Given the description of an element on the screen output the (x, y) to click on. 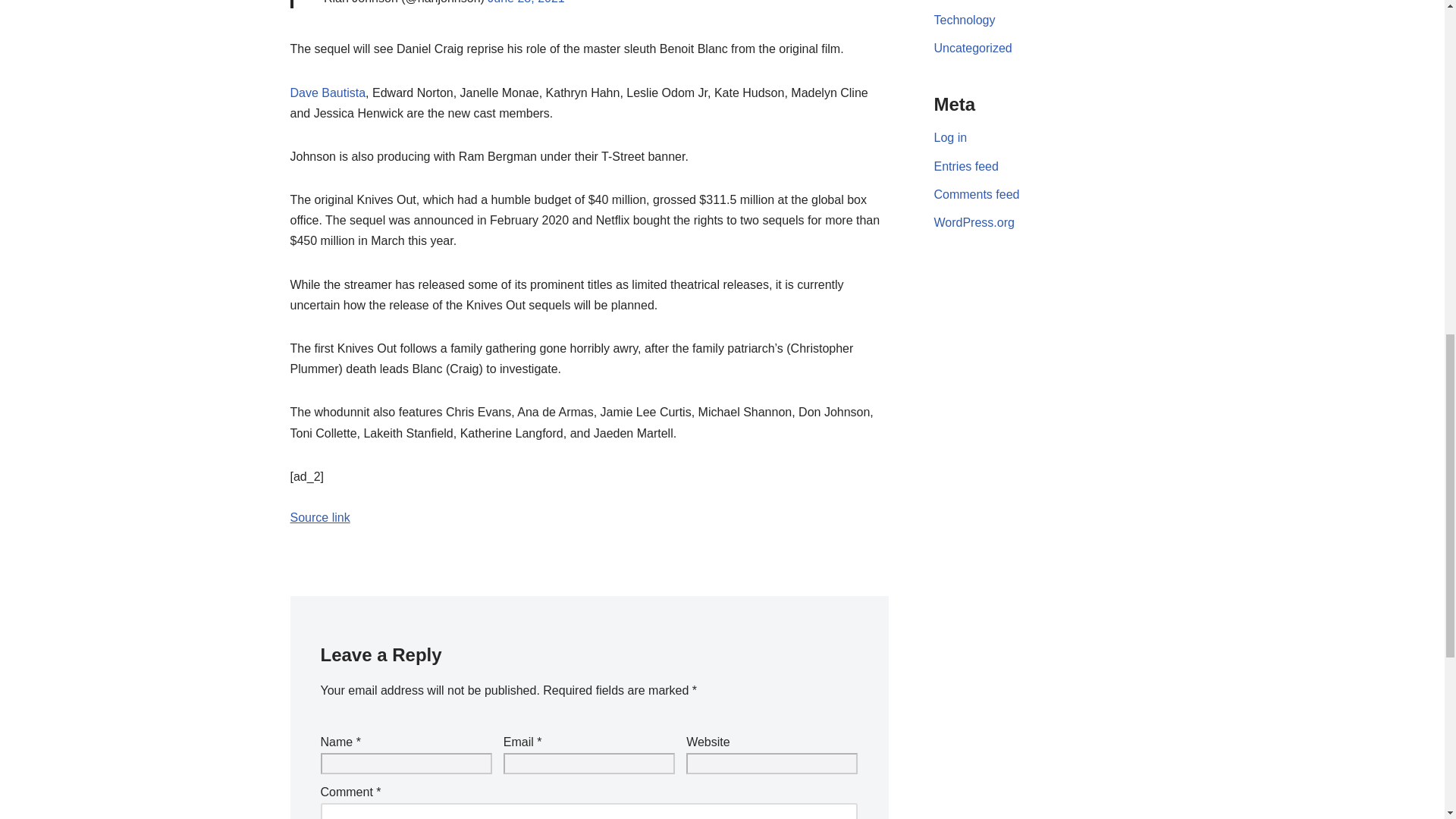
Dave Bautista (327, 92)
June 28, 2021 (525, 2)
Source link (319, 517)
